Given the description of an element on the screen output the (x, y) to click on. 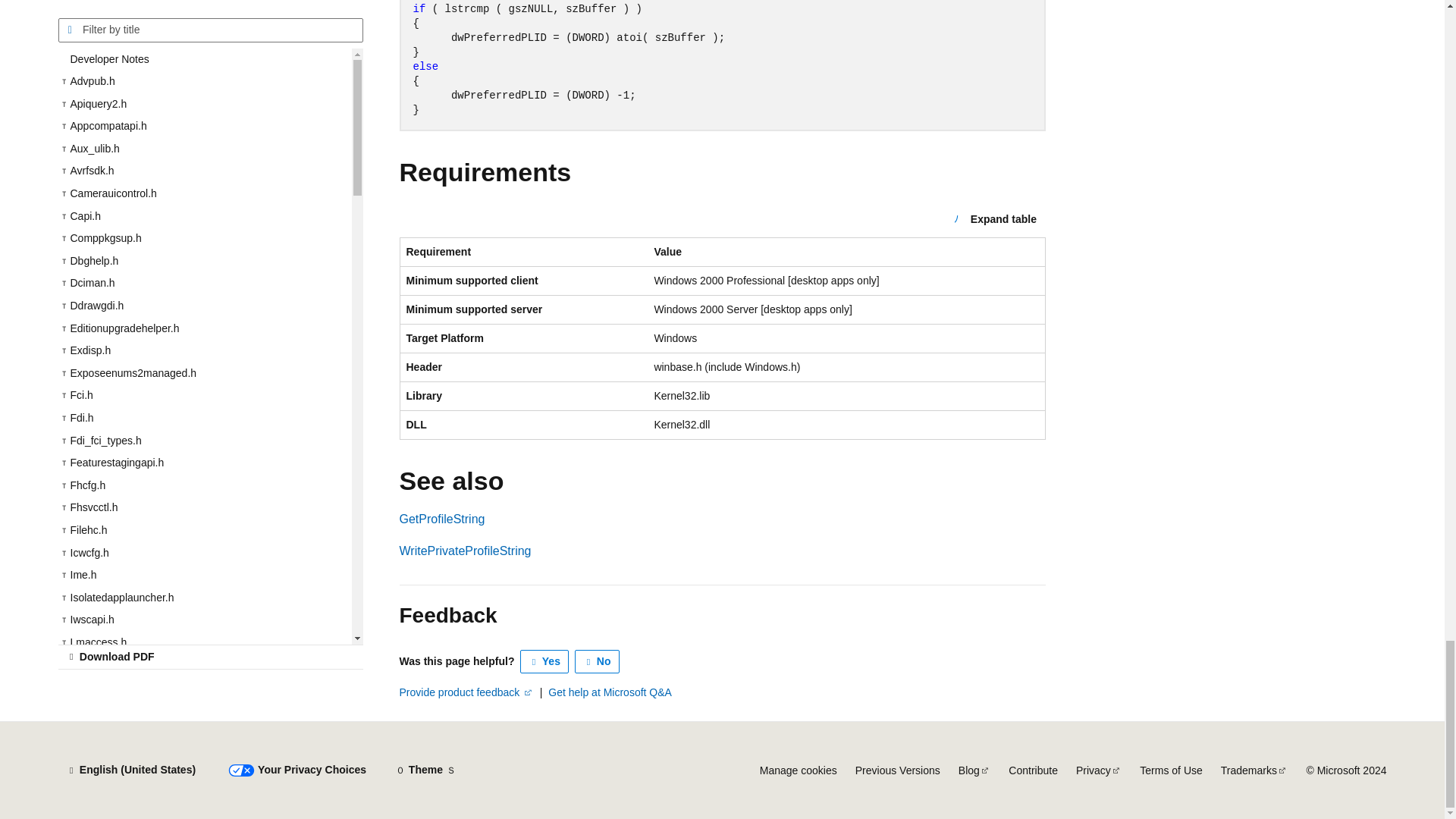
Theme (425, 770)
This article is not helpful (597, 662)
This article is helpful (544, 662)
